Given the description of an element on the screen output the (x, y) to click on. 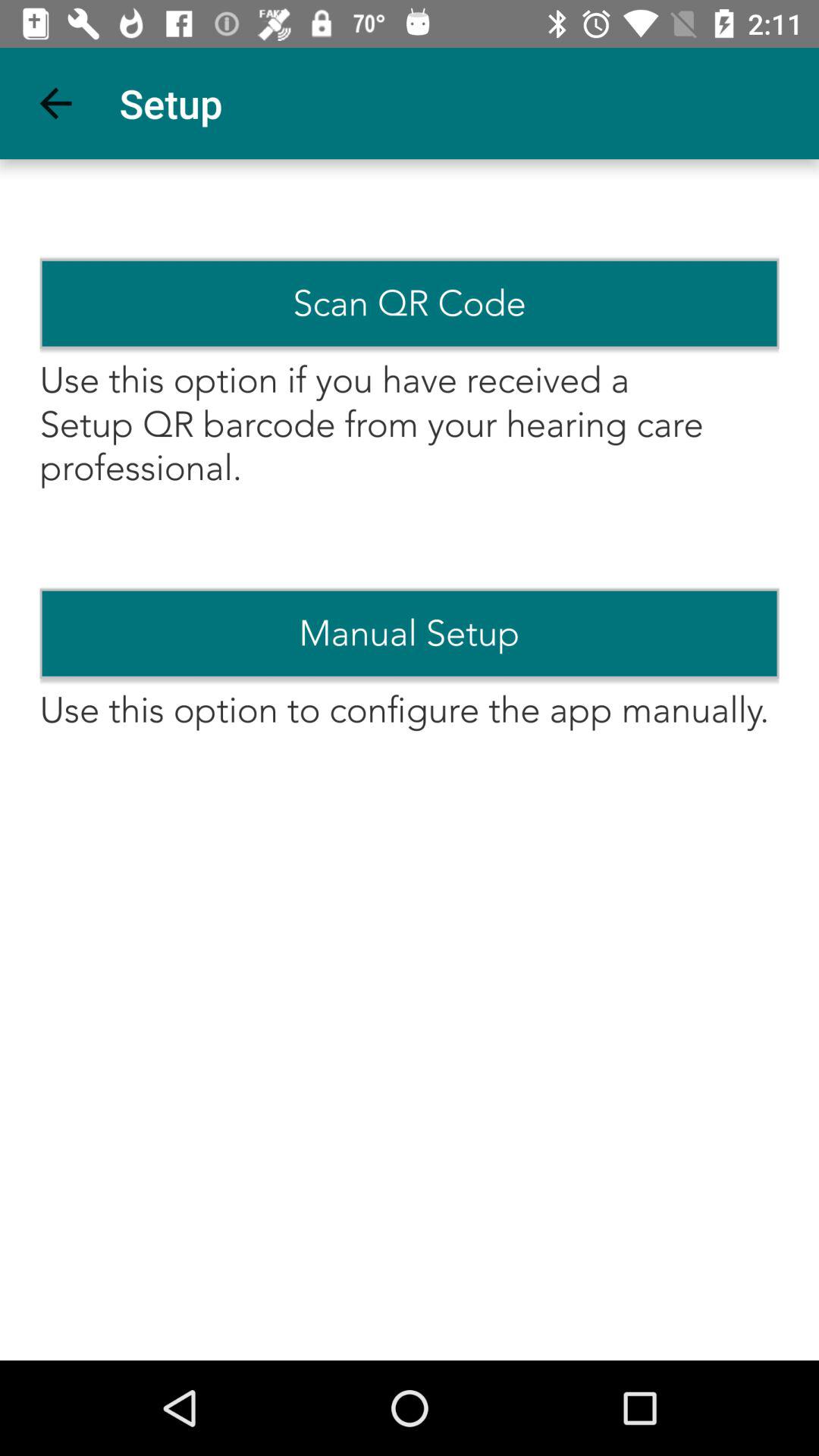
scroll to the manual setup item (409, 633)
